Given the description of an element on the screen output the (x, y) to click on. 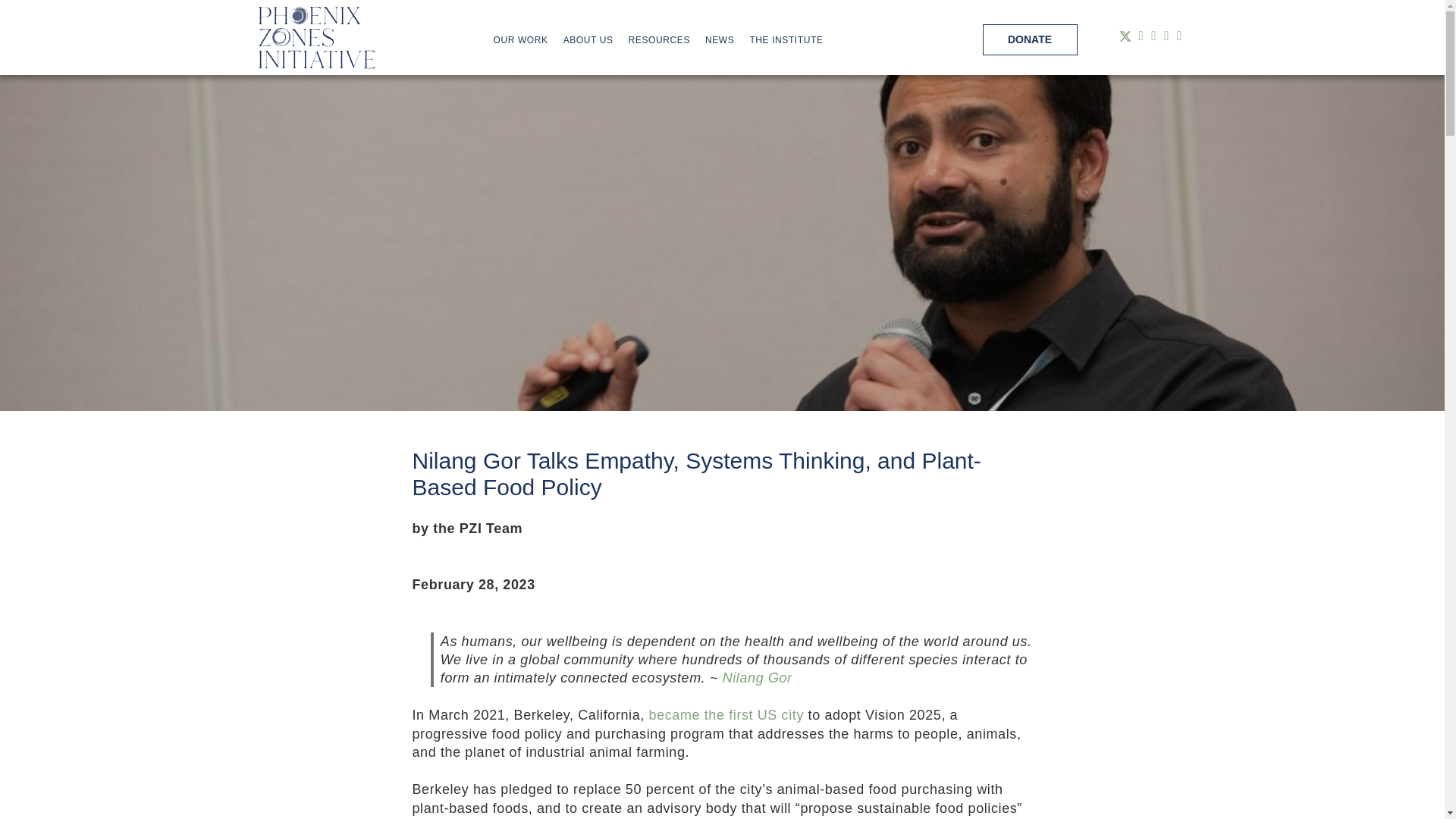
became the first US city (726, 714)
NEWS (718, 40)
ABOUT US (587, 40)
THE INSTITUTE (785, 40)
RESOURCES (659, 40)
Nilang Gor (757, 677)
OUR WORK (520, 40)
DONATE (1029, 39)
